Given the description of an element on the screen output the (x, y) to click on. 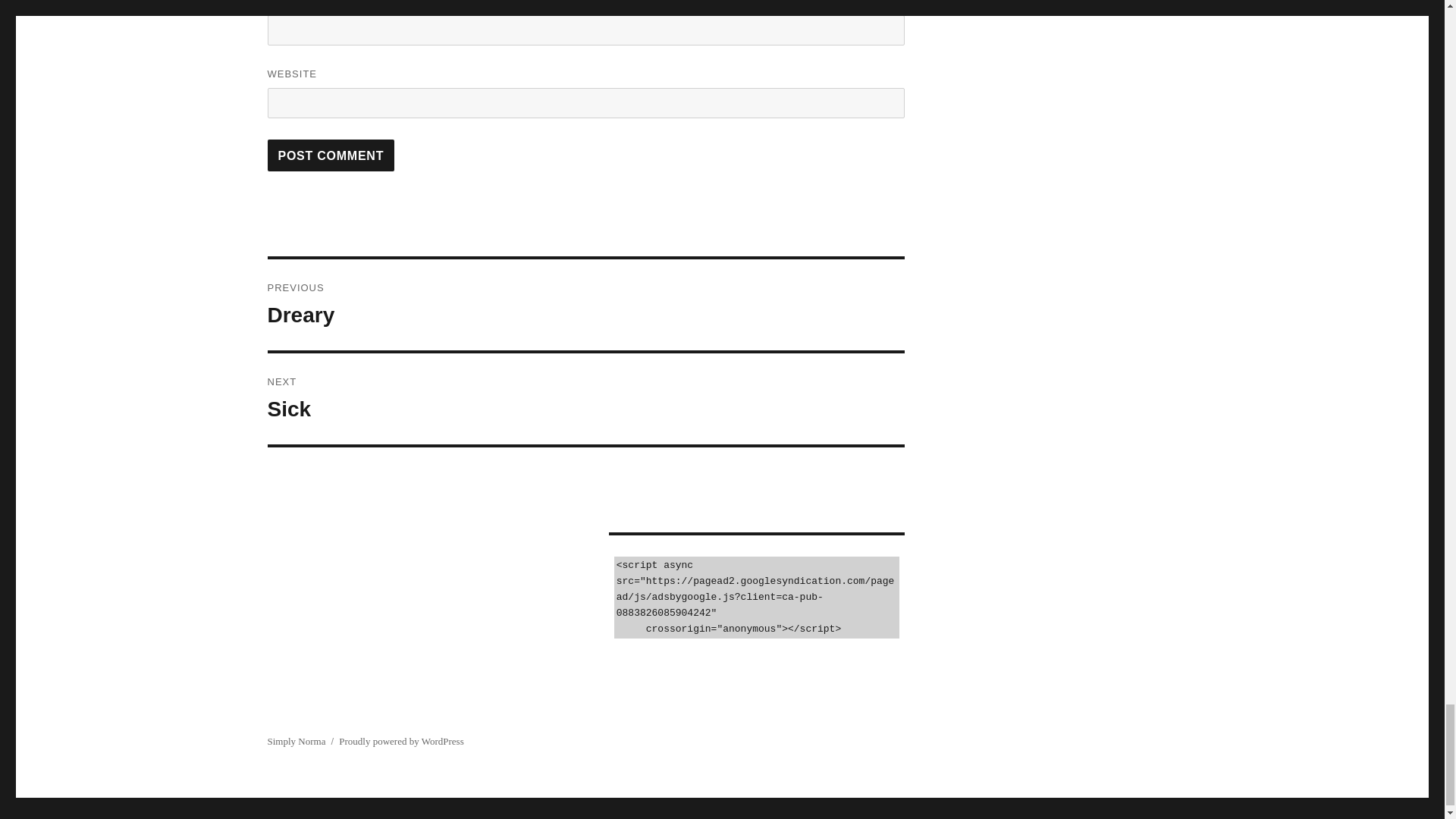
Post Comment (330, 155)
Post Comment (585, 304)
